Given the description of an element on the screen output the (x, y) to click on. 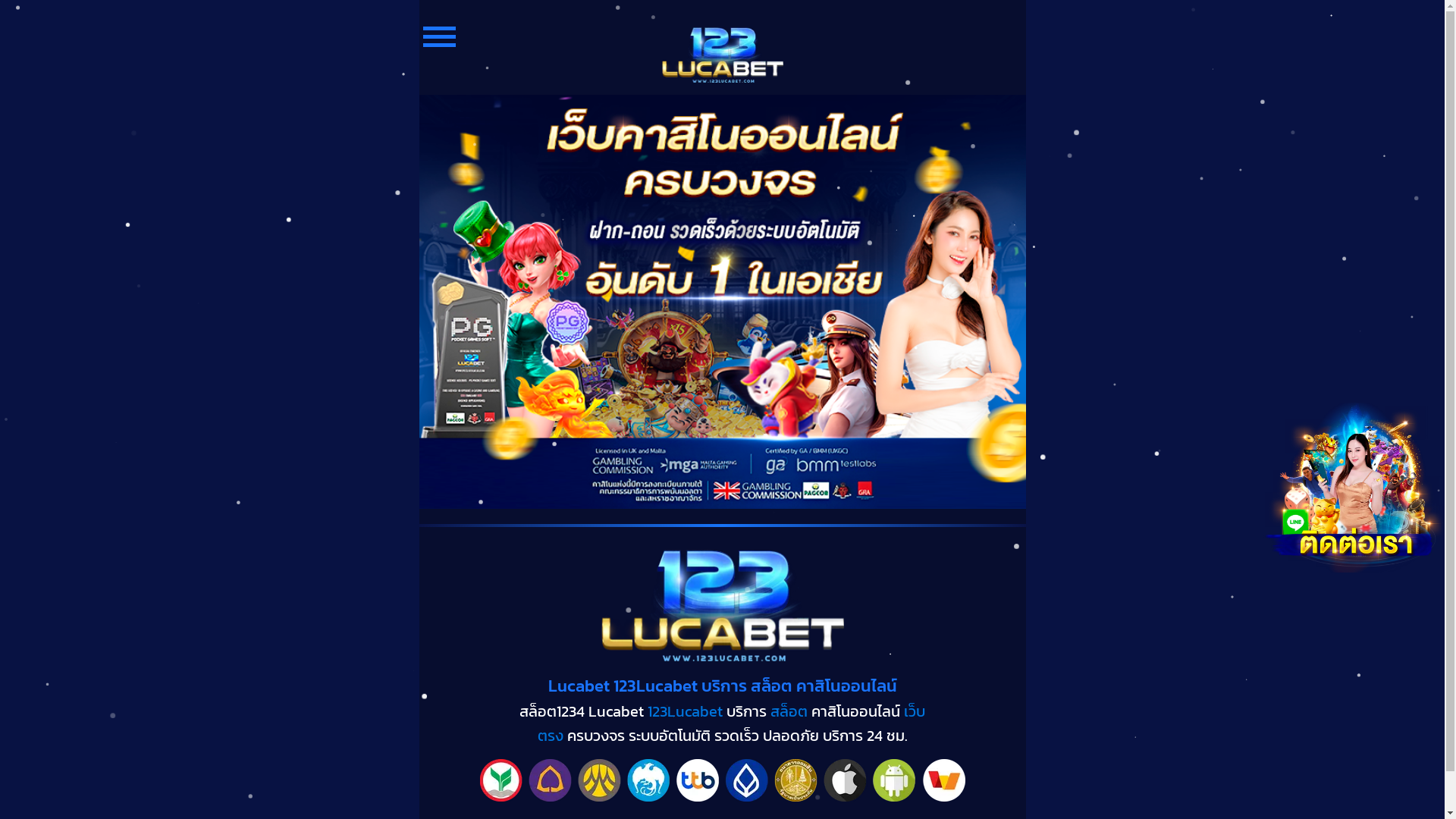
123Lucabet Element type: text (684, 710)
